Given the description of an element on the screen output the (x, y) to click on. 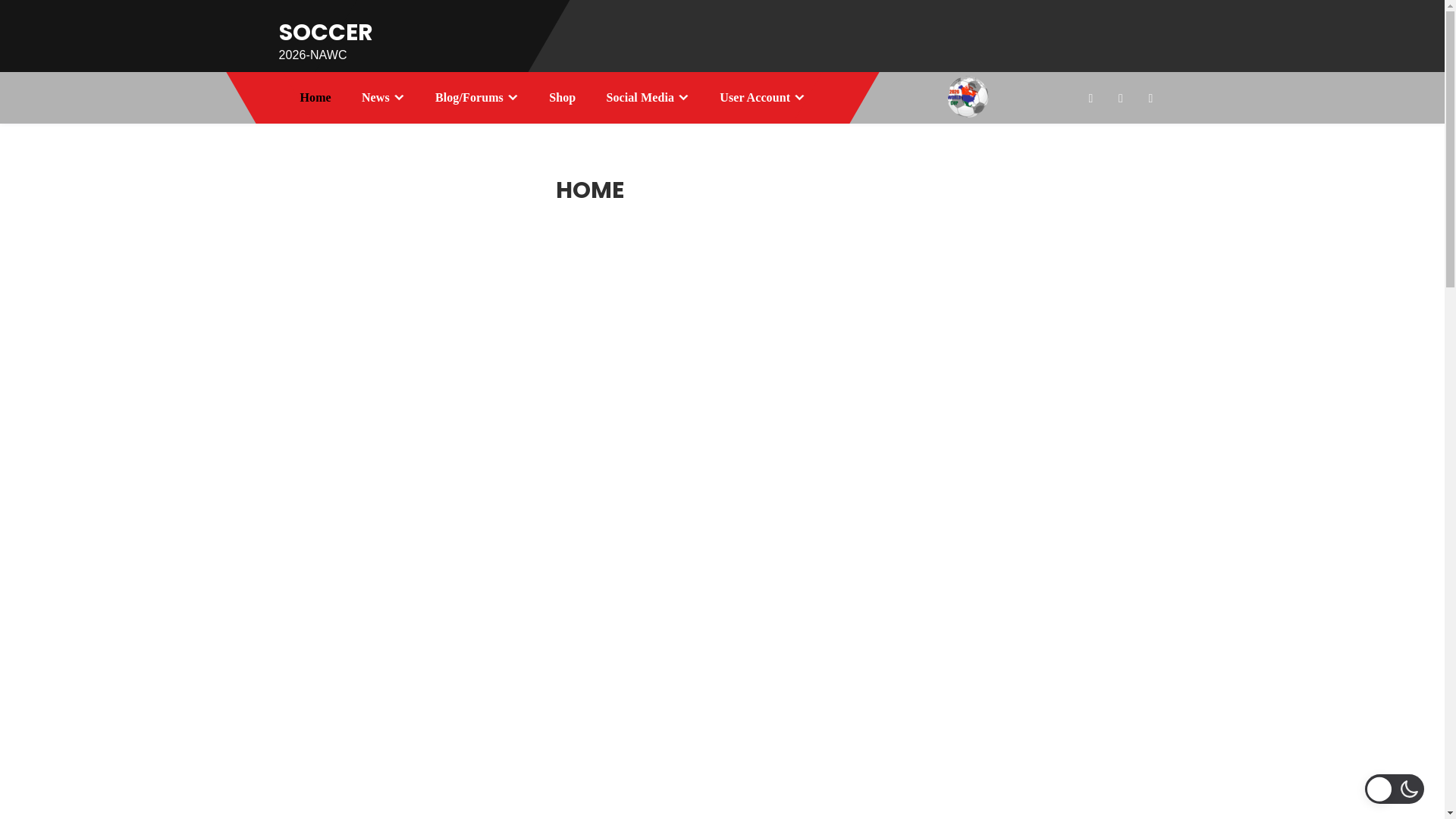
Blog/Forums Element type: text (476, 97)
SOCCER Element type: text (326, 32)
News Element type: text (383, 97)
Social Media Element type: text (647, 97)
User Account Element type: text (762, 97)
Shop Element type: text (562, 97)
Home Element type: text (315, 97)
